Given the description of an element on the screen output the (x, y) to click on. 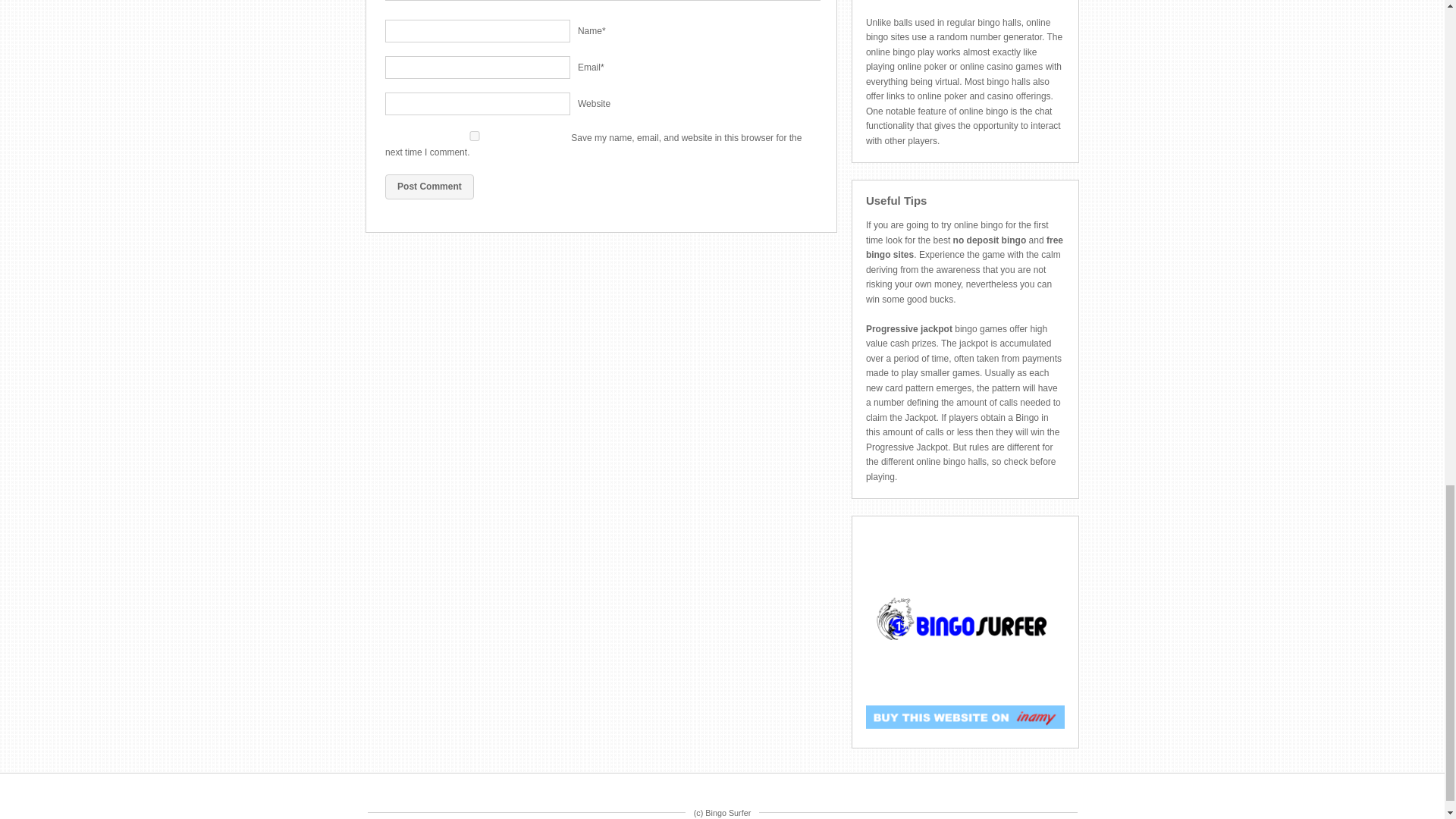
yes (474, 135)
Post Comment (429, 186)
Post Comment (429, 186)
